Given the description of an element on the screen output the (x, y) to click on. 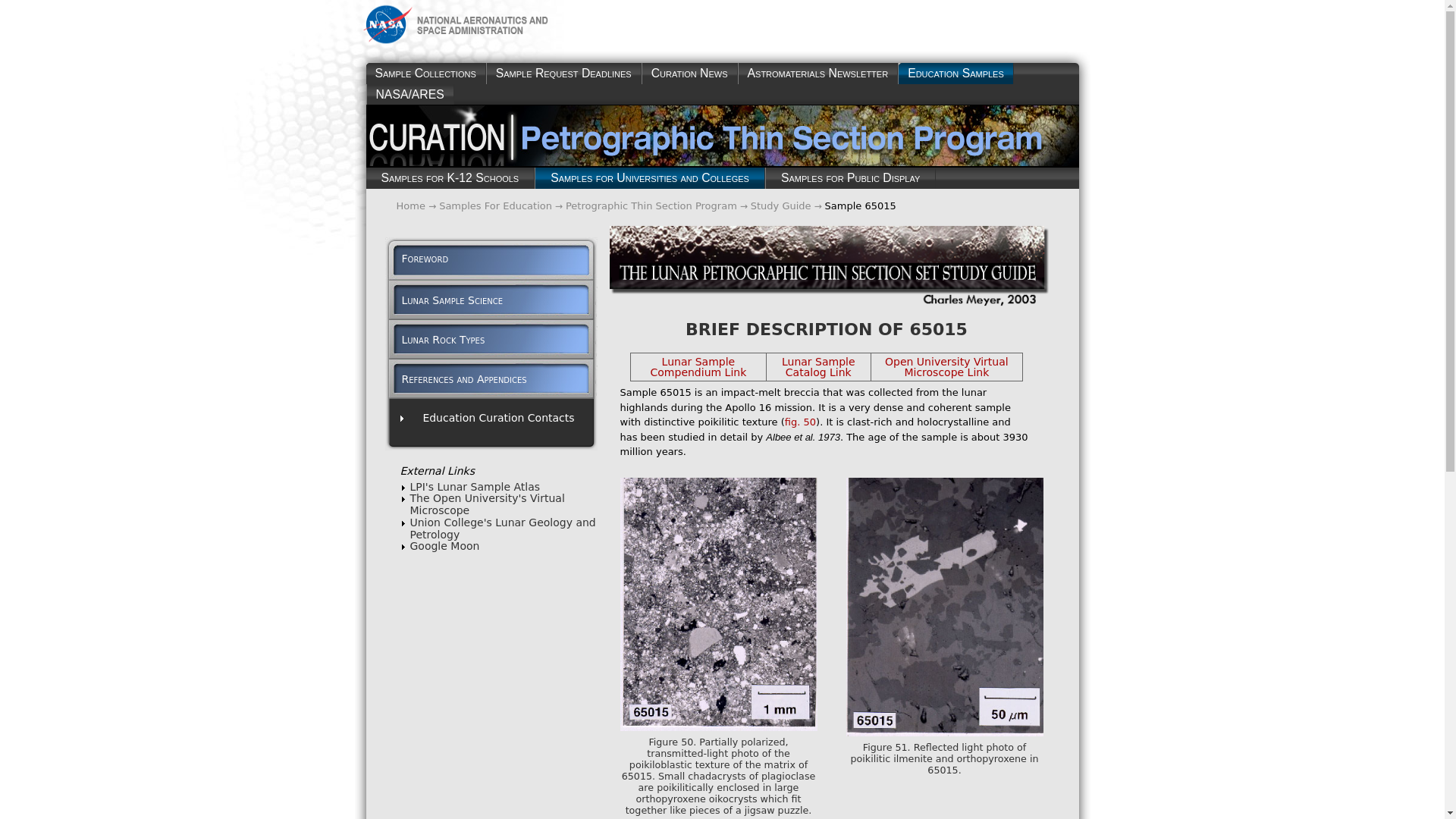
Samples For Education (495, 205)
Education Samples (955, 73)
Home (410, 205)
Petrographic Thin Section Program (651, 205)
Foreword (416, 258)
Samples for Universities and Colleges (649, 178)
Samples for Public Display (850, 178)
Petrographic Thin Section Program (651, 205)
Samples for K-12 Schools (449, 178)
ARES Website (408, 93)
Astromaterials Newsletter (818, 73)
Sample Request Dealines (564, 73)
Sample Collections (424, 73)
Skip to content (370, 17)
Study Guide (780, 205)
